Given the description of an element on the screen output the (x, y) to click on. 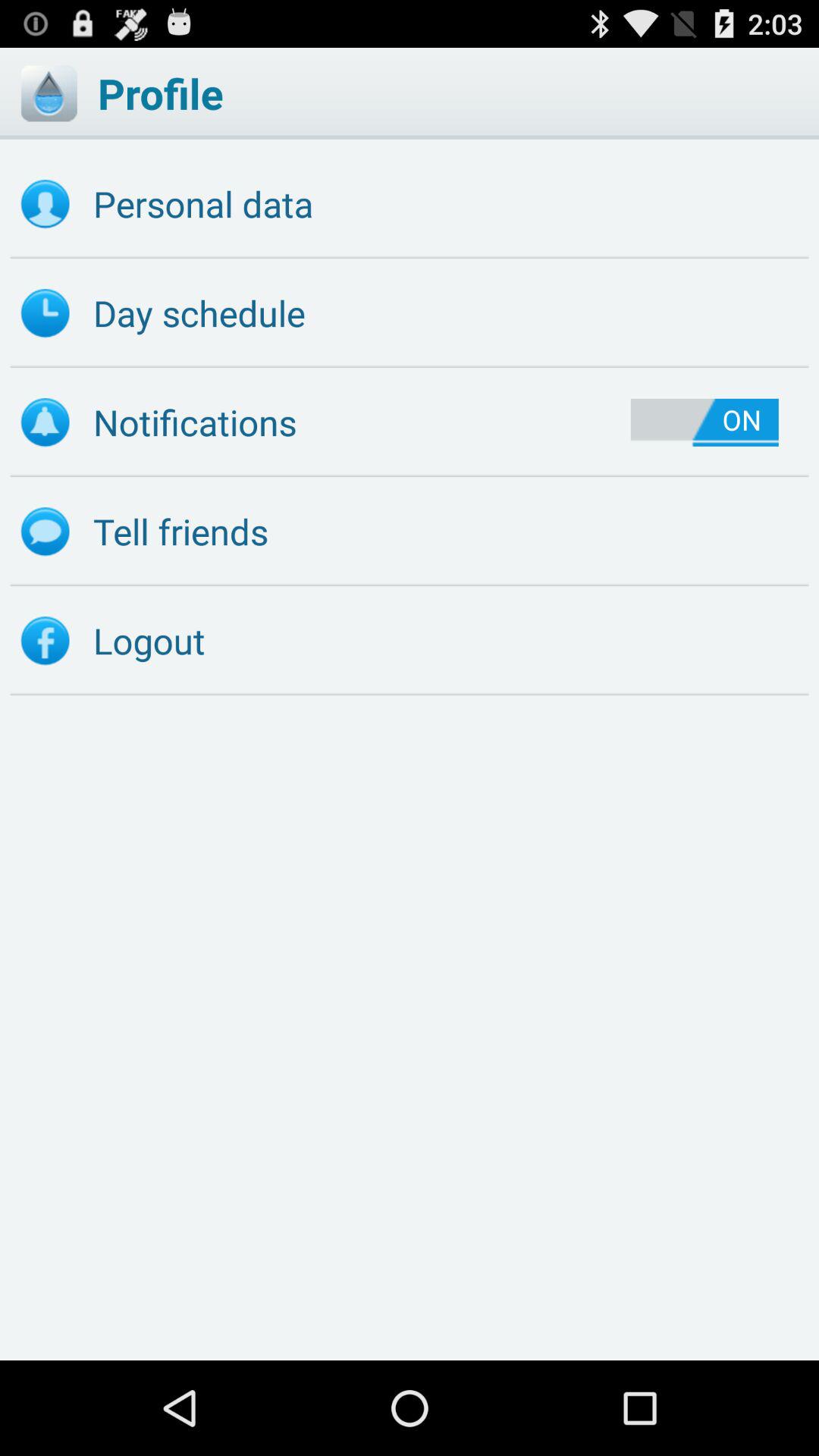
launch day schedule item (409, 312)
